Given the description of an element on the screen output the (x, y) to click on. 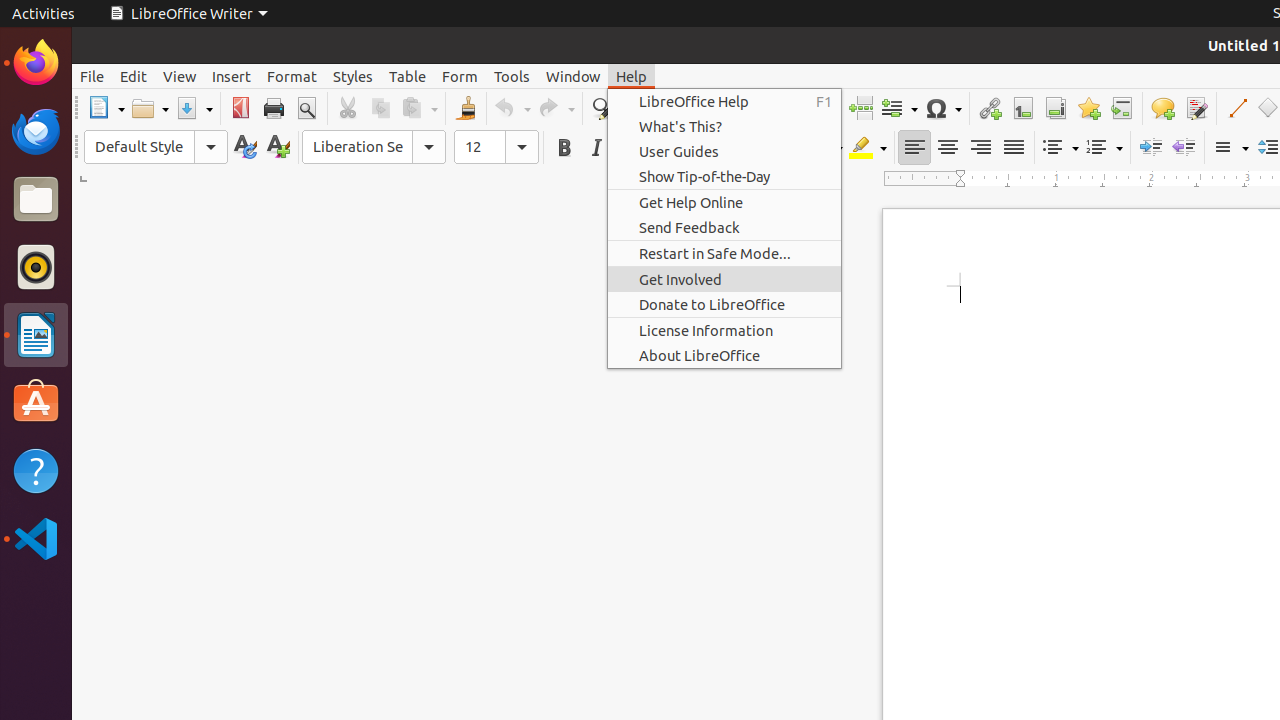
Page Break Element type: push-button (860, 108)
Bold Element type: toggle-button (563, 147)
Symbol Element type: push-button (943, 108)
Help Element type: menu (631, 76)
Restart in Safe Mode... Element type: menu-item (724, 253)
